Given the description of an element on the screen output the (x, y) to click on. 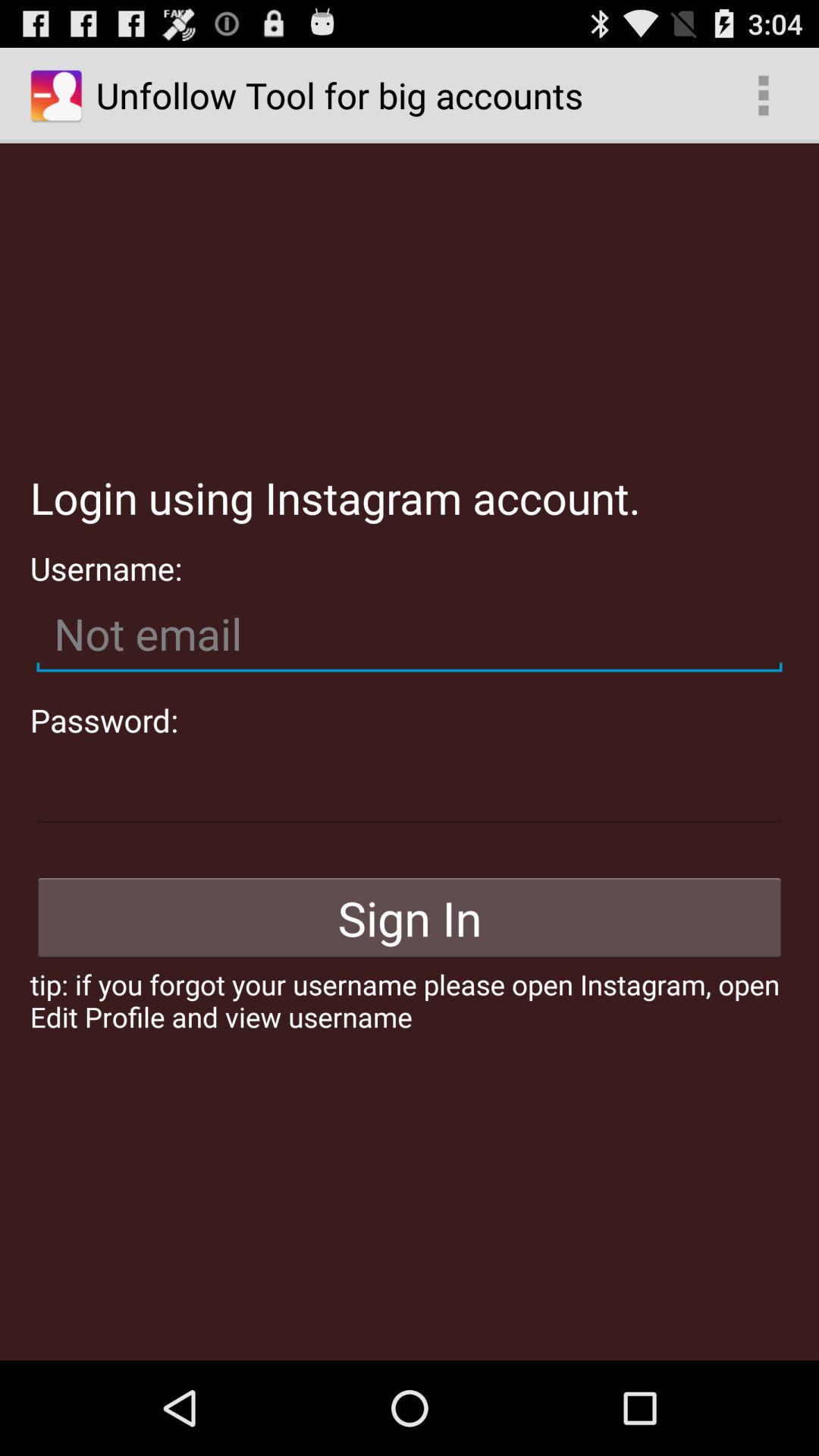
jump to sign in item (409, 917)
